Given the description of an element on the screen output the (x, y) to click on. 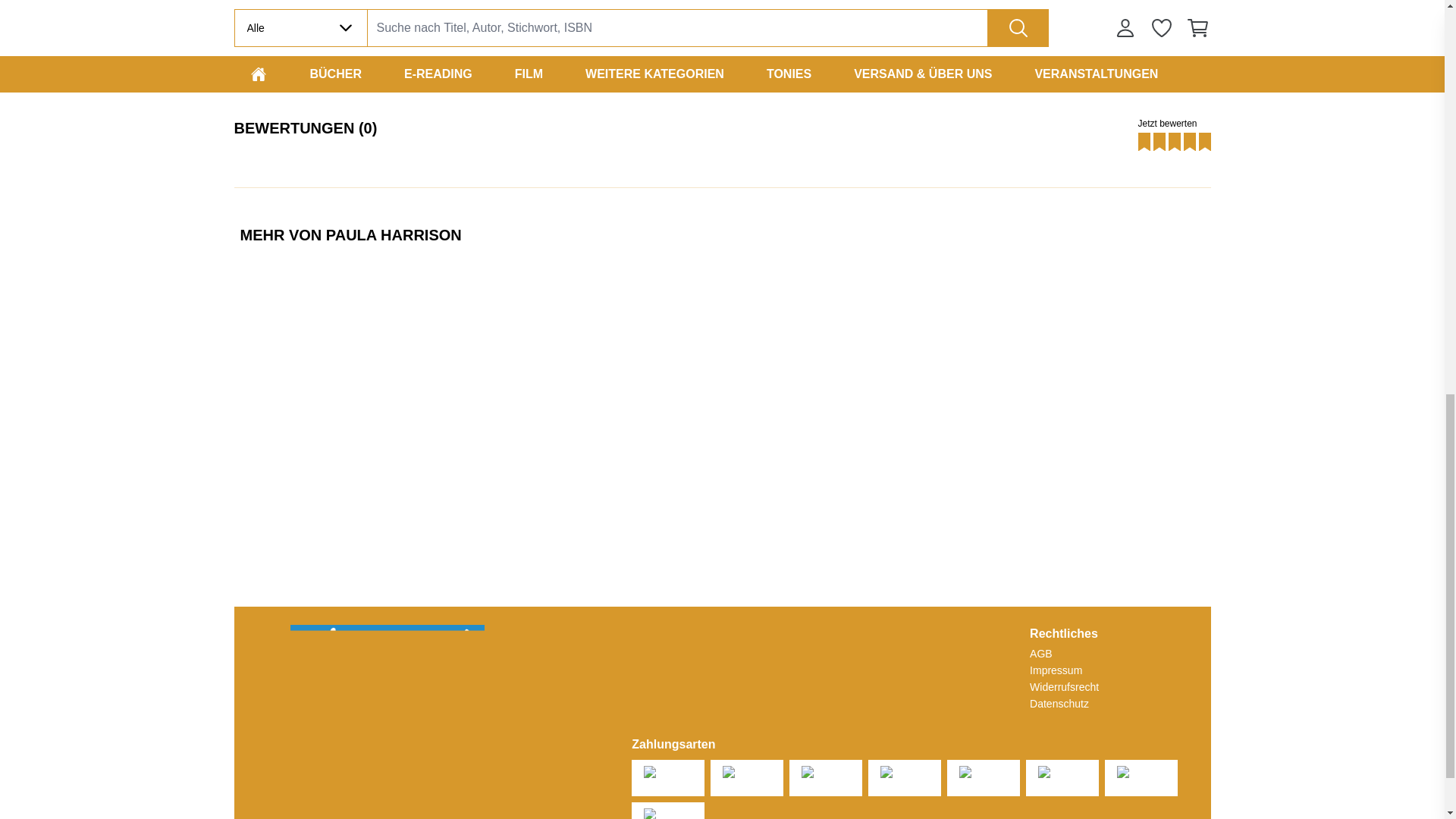
AGB (1064, 653)
